Given the description of an element on the screen output the (x, y) to click on. 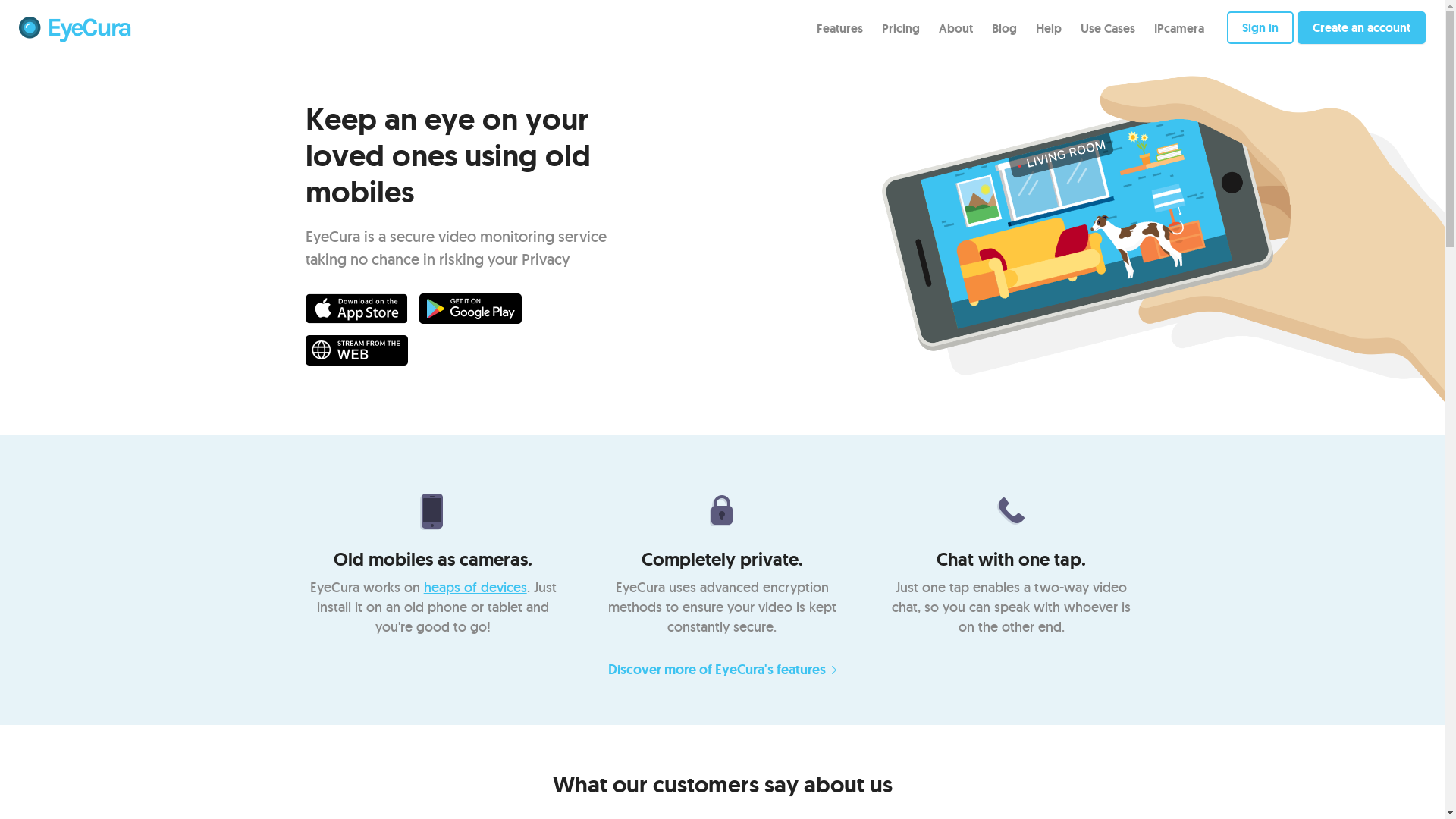
Help Element type: text (1048, 27)
Features Element type: text (839, 27)
Discover more of EyeCura's features Element type: text (722, 669)
IPcamera Element type: text (1179, 27)
About Element type: text (955, 27)
Blog Element type: text (1003, 27)
EyeCura Element type: text (74, 27)
heaps of devices Element type: text (475, 587)
Use Cases Element type: text (1107, 27)
Sign in Element type: text (1259, 27)
Create an account Element type: text (1361, 27)
Pricing Element type: text (900, 27)
